Given the description of an element on the screen output the (x, y) to click on. 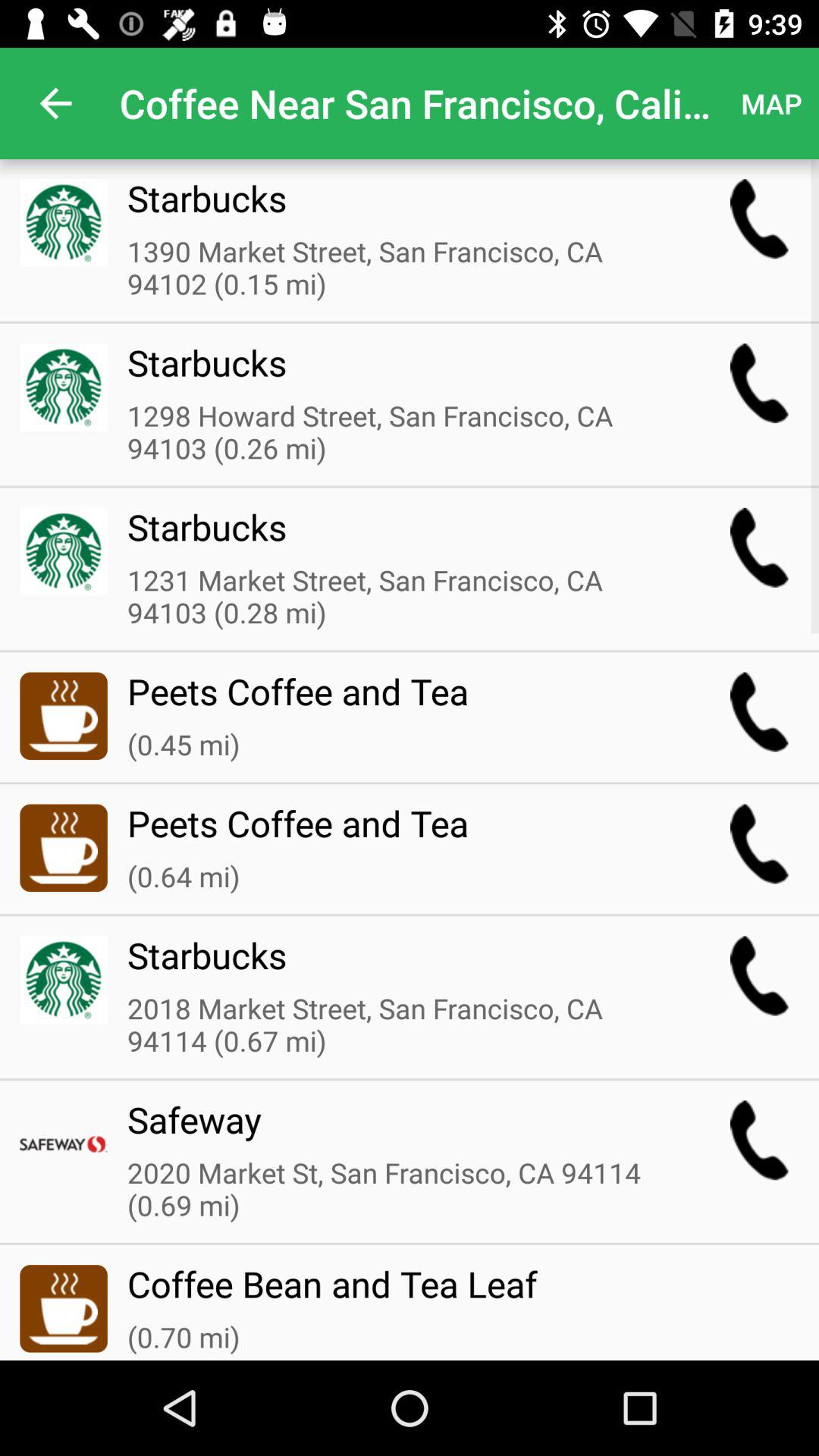
tap the icon above 2020 market st icon (398, 1128)
